Given the description of an element on the screen output the (x, y) to click on. 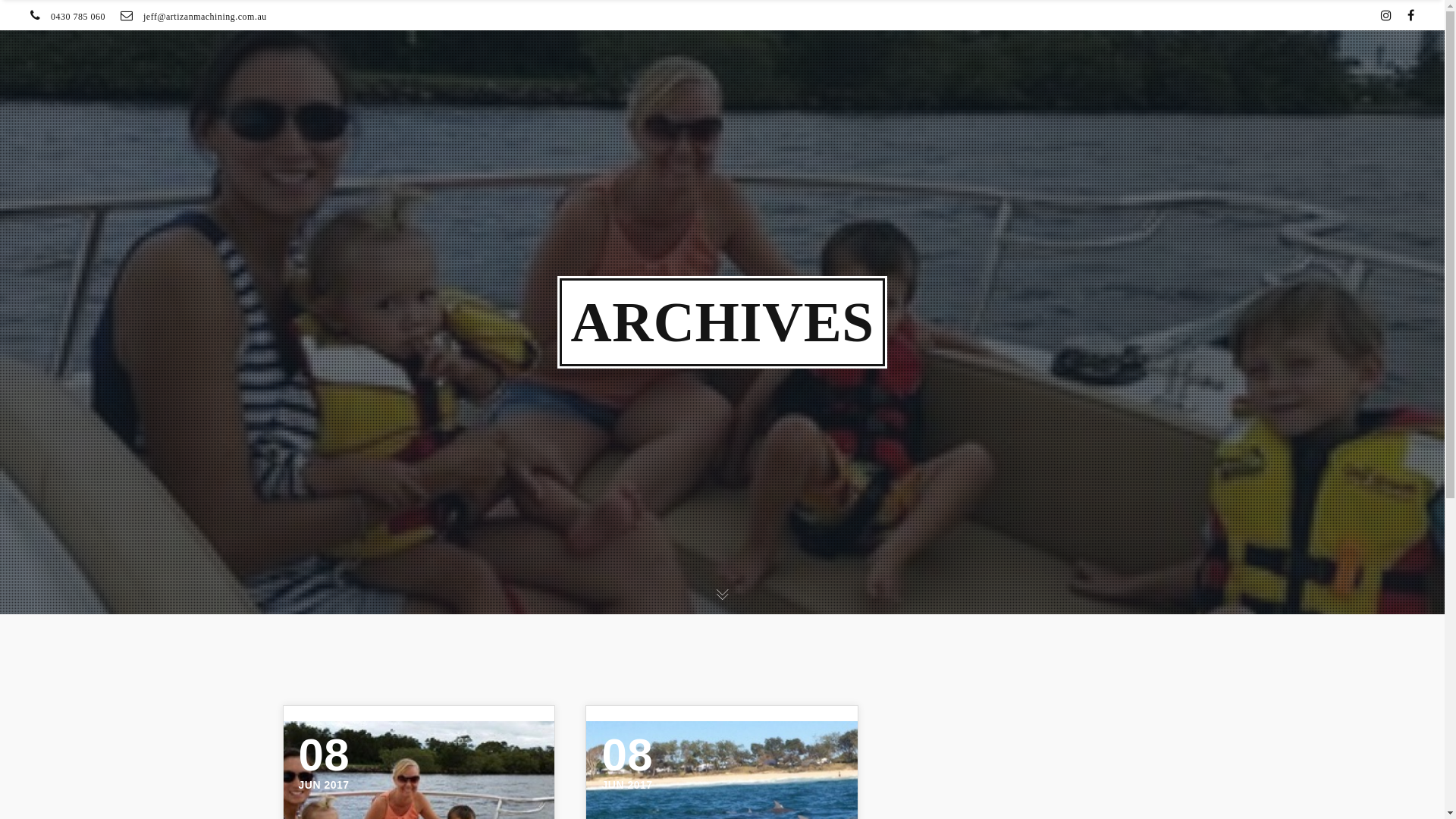
jeff@artizanmachining.com.au Element type: text (204, 16)
